Given the description of an element on the screen output the (x, y) to click on. 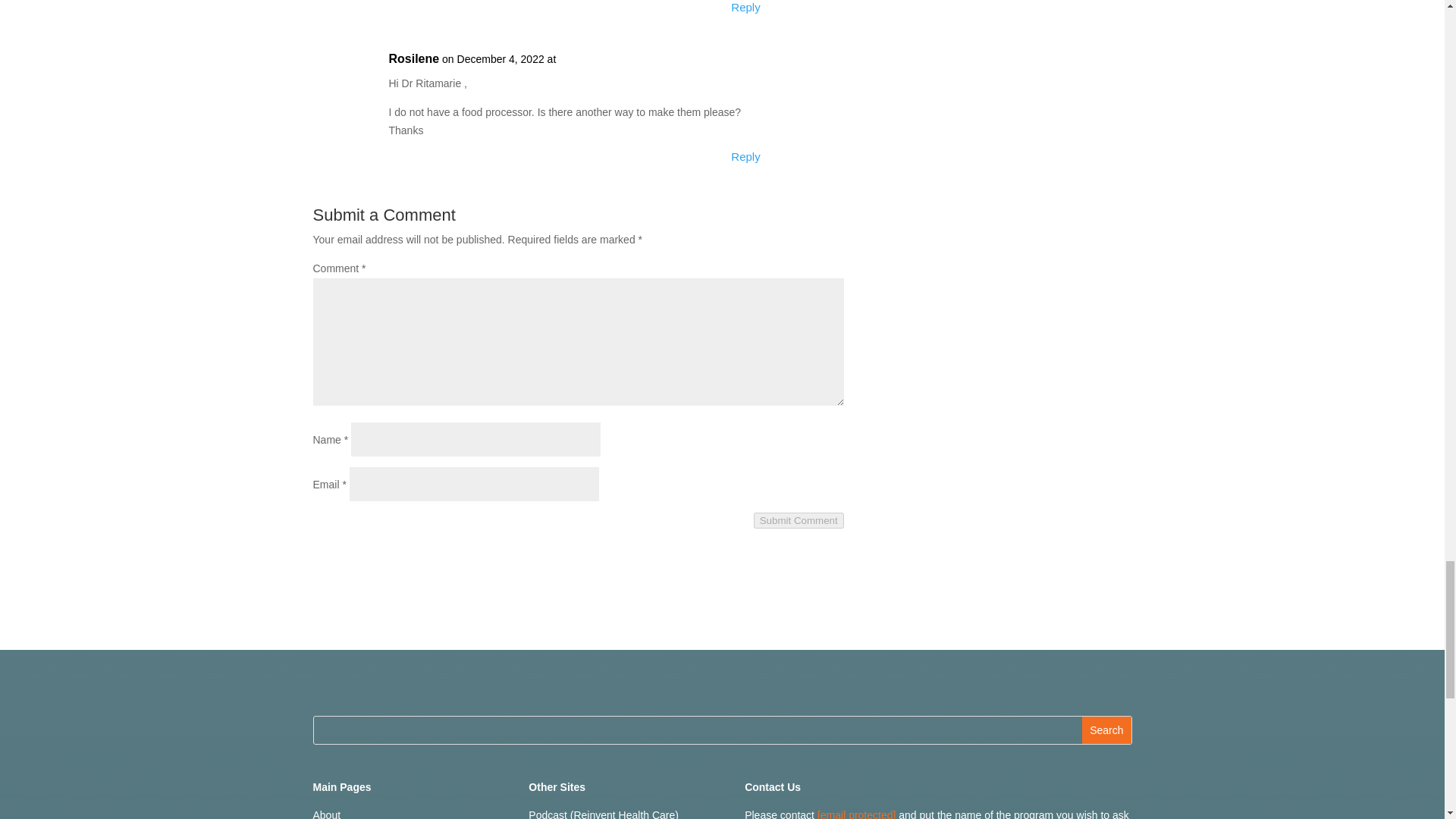
Search (1106, 729)
Search (1106, 729)
